Given the description of an element on the screen output the (x, y) to click on. 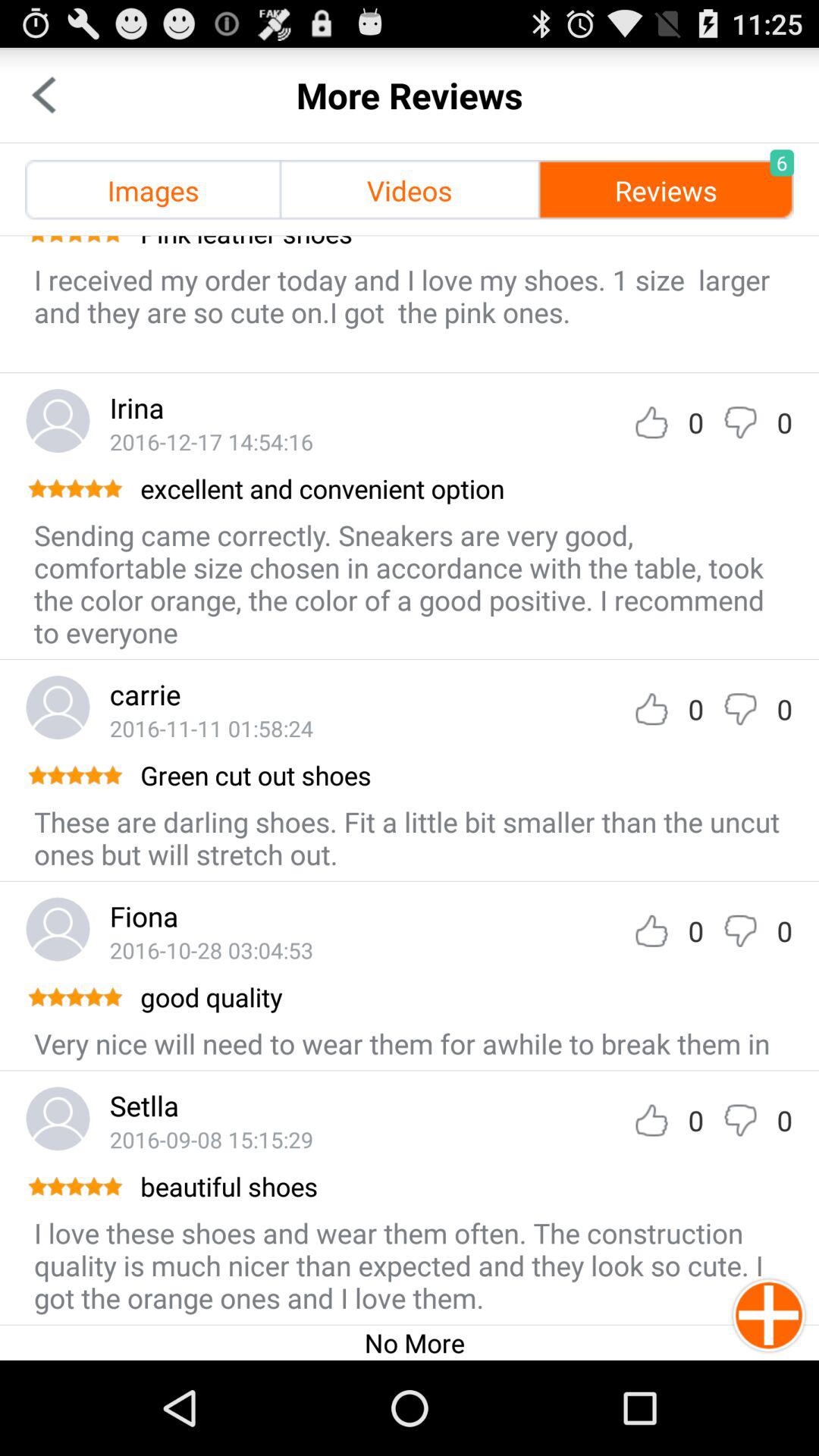
press to dislike (740, 709)
